Given the description of an element on the screen output the (x, y) to click on. 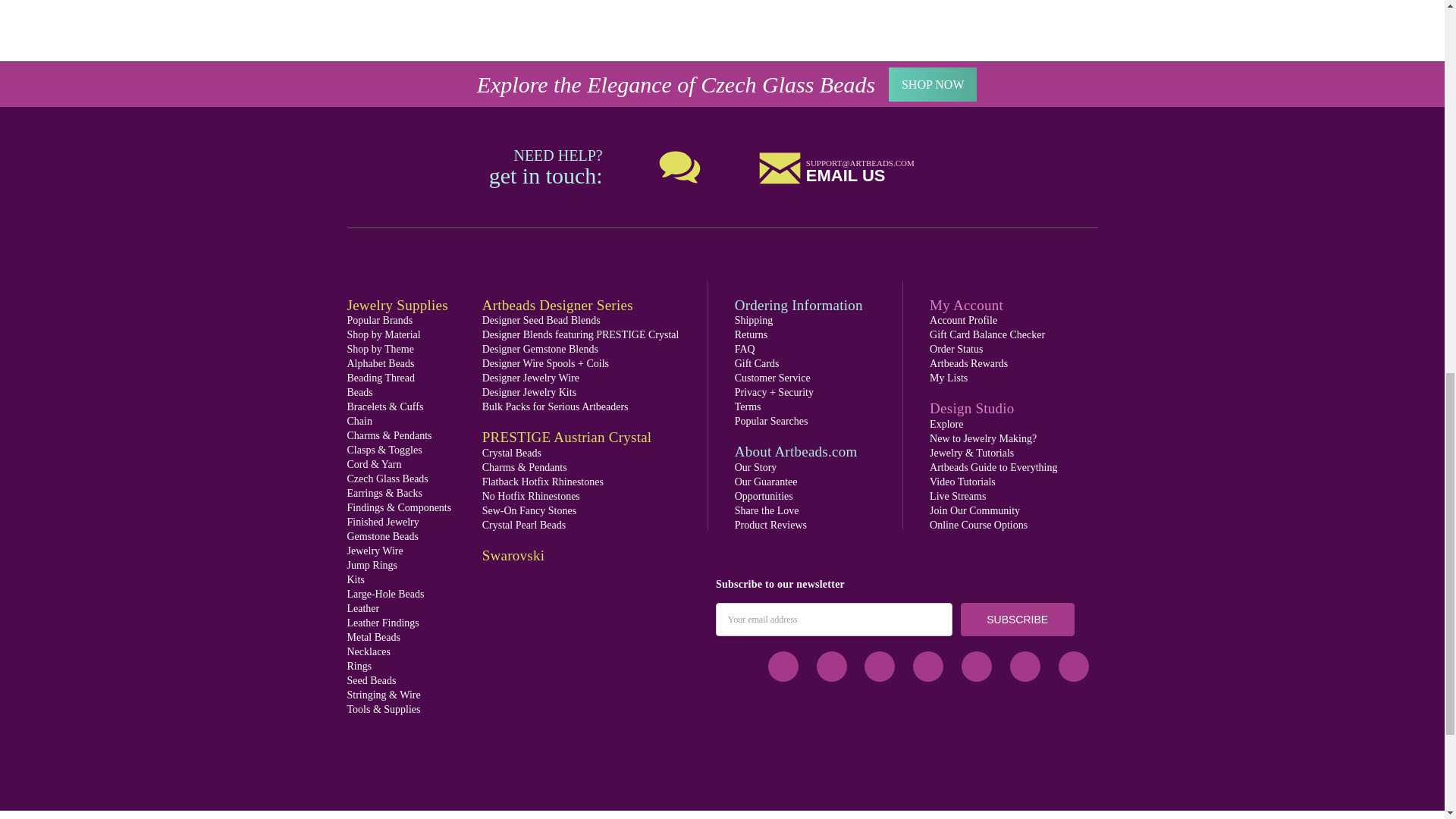
Subscribe (1017, 619)
